Given the description of an element on the screen output the (x, y) to click on. 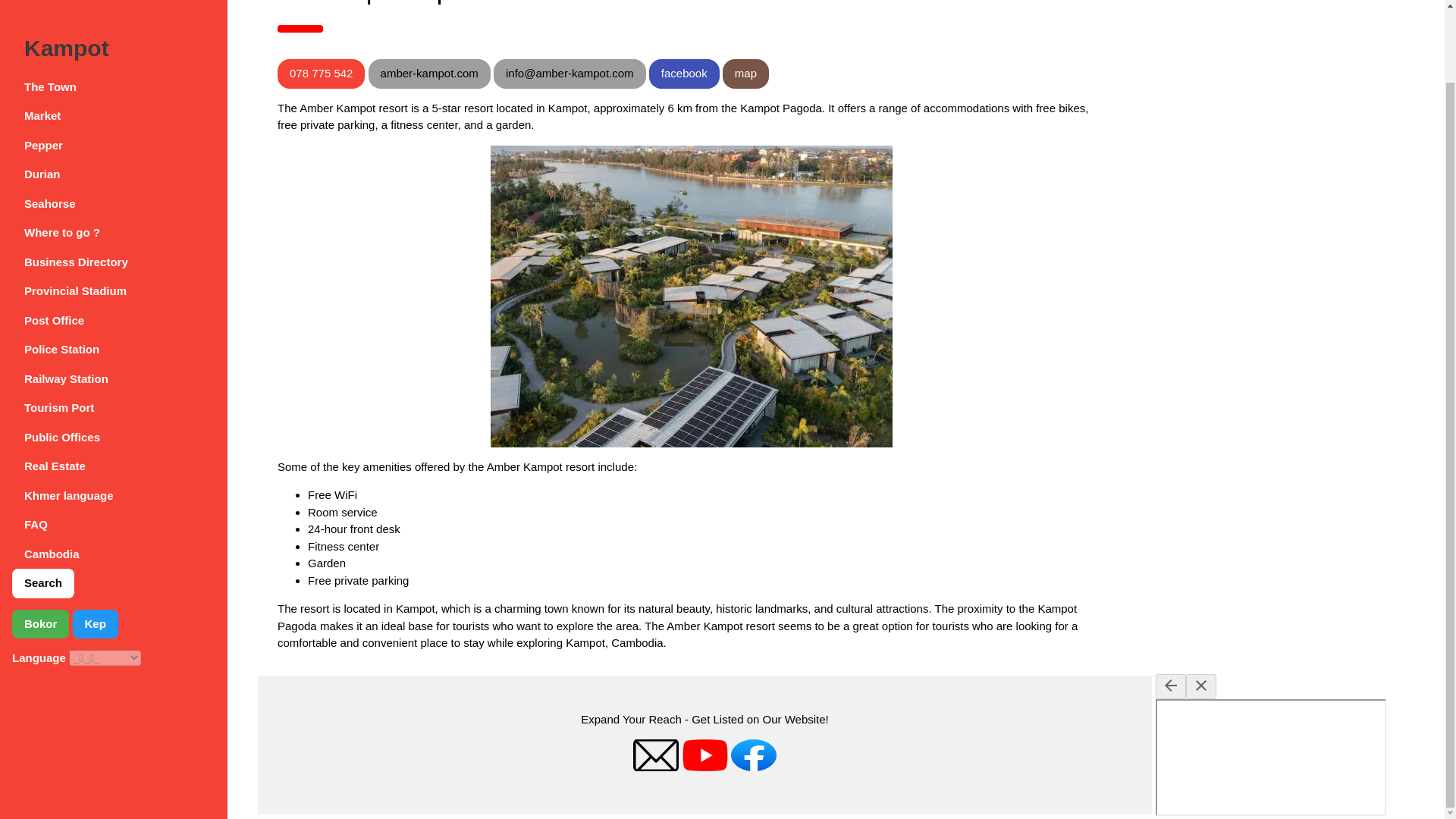
facebook (684, 73)
Railway Station (113, 298)
Khmer language (113, 415)
Seahorse (113, 123)
amber-kampot.com (429, 73)
Where to go ? (113, 152)
Public Offices (113, 357)
Bokor (39, 543)
Provincial Stadium (113, 211)
Business Directory (113, 182)
